Given the description of an element on the screen output the (x, y) to click on. 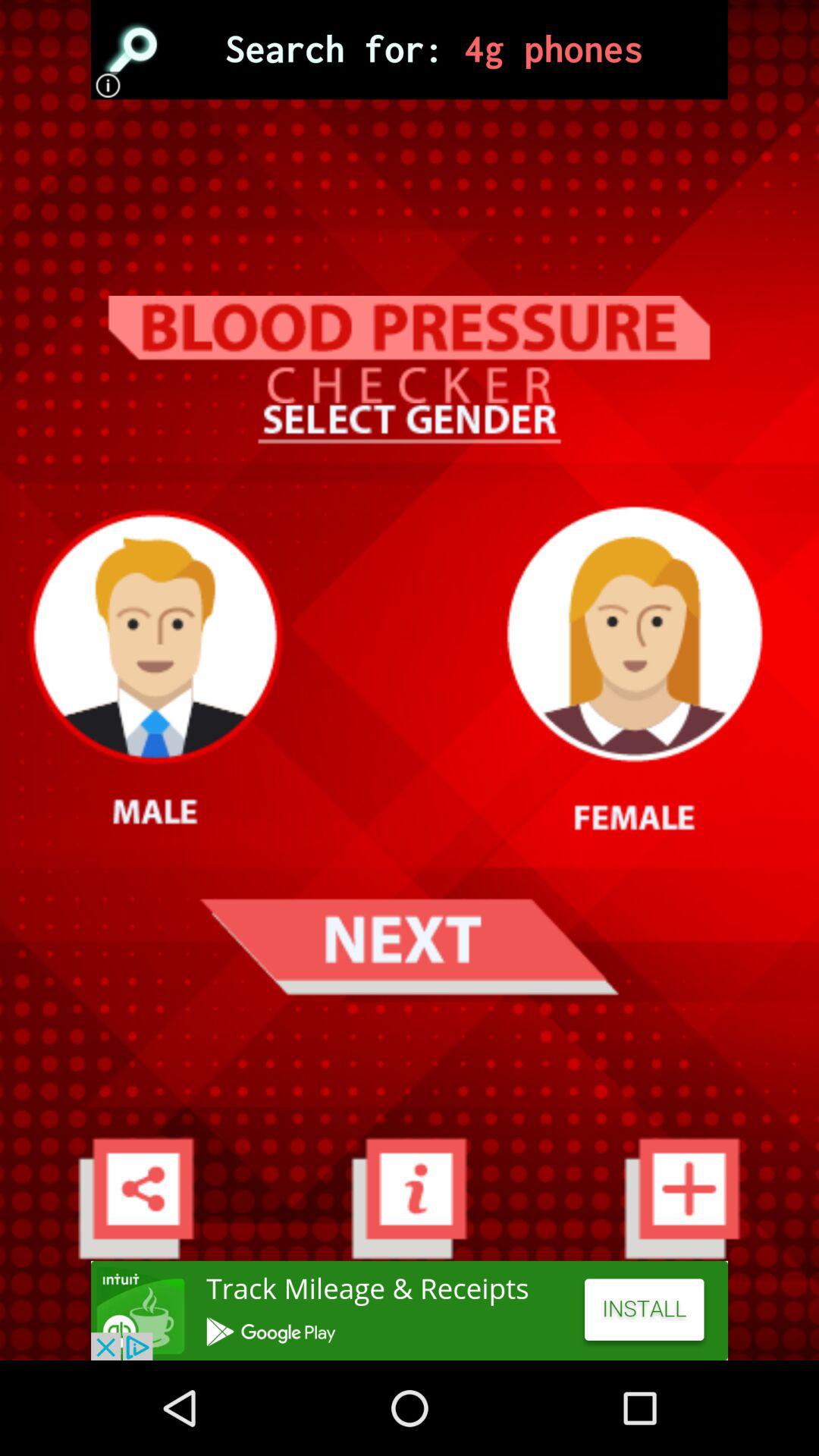
open advertisement (409, 49)
